Given the description of an element on the screen output the (x, y) to click on. 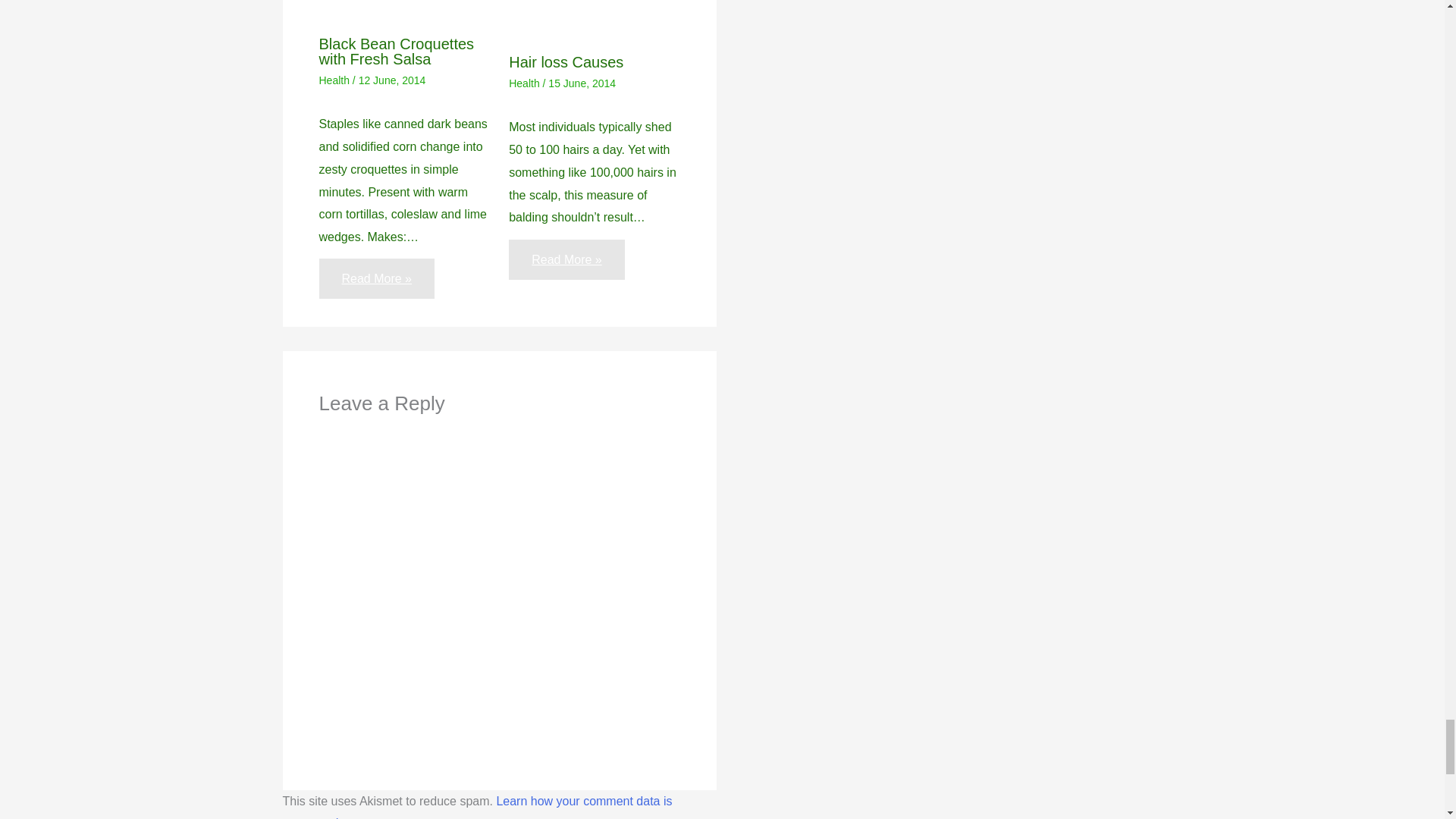
Comment Form (498, 583)
